Given the description of an element on the screen output the (x, y) to click on. 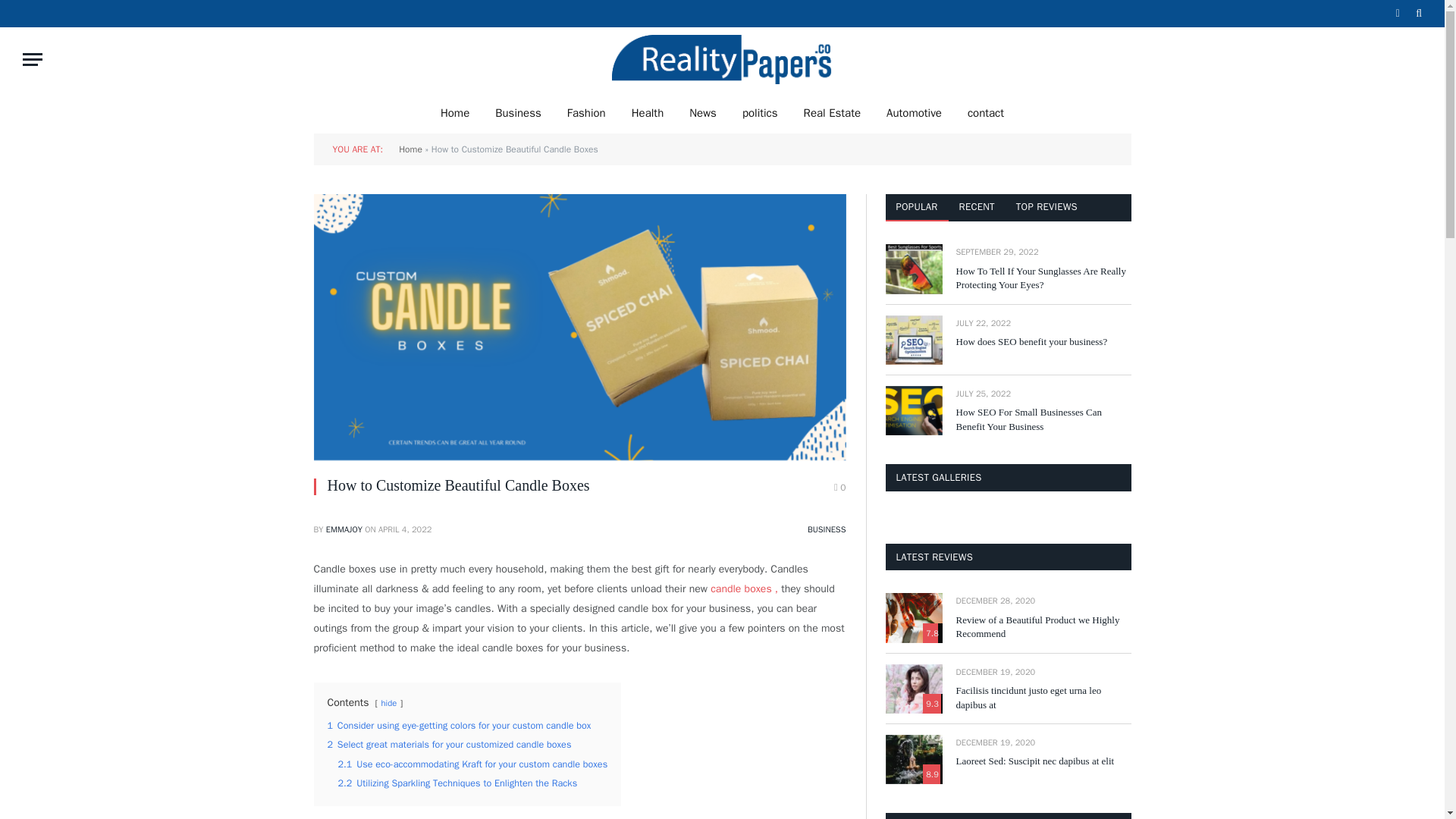
Posts by emmajoy (344, 529)
BUSINESS (826, 529)
2 Select great materials for your customized candle boxes (449, 744)
Business (517, 112)
Reality Papers (721, 59)
contact (985, 112)
Automotive (914, 112)
hide (388, 702)
Home (410, 149)
Health (647, 112)
Home (454, 112)
politics (759, 112)
2022-04-04 (404, 529)
Real Estate (831, 112)
EMMAJOY (344, 529)
